Given the description of an element on the screen output the (x, y) to click on. 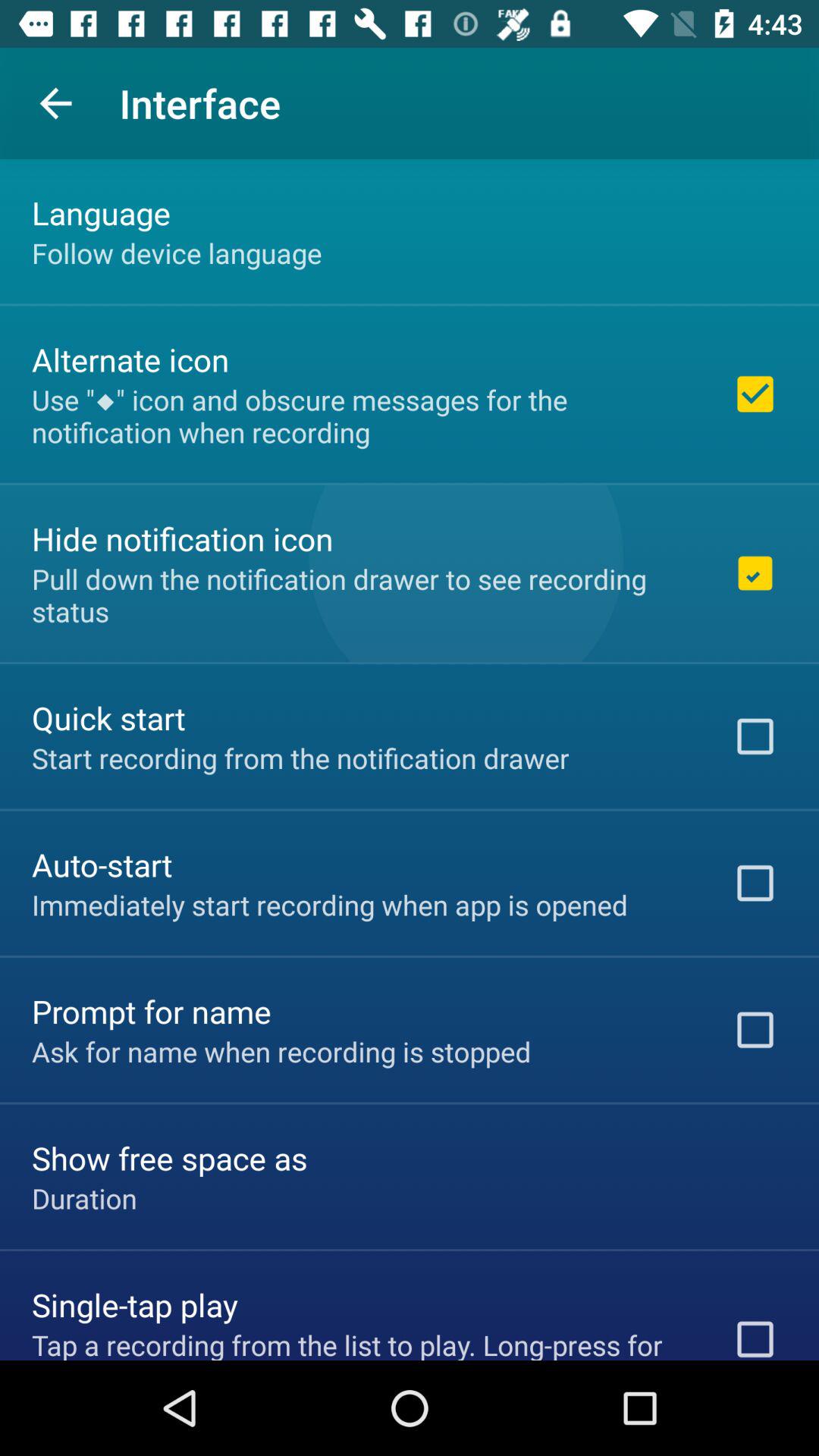
turn off alternate icon item (130, 359)
